Given the description of an element on the screen output the (x, y) to click on. 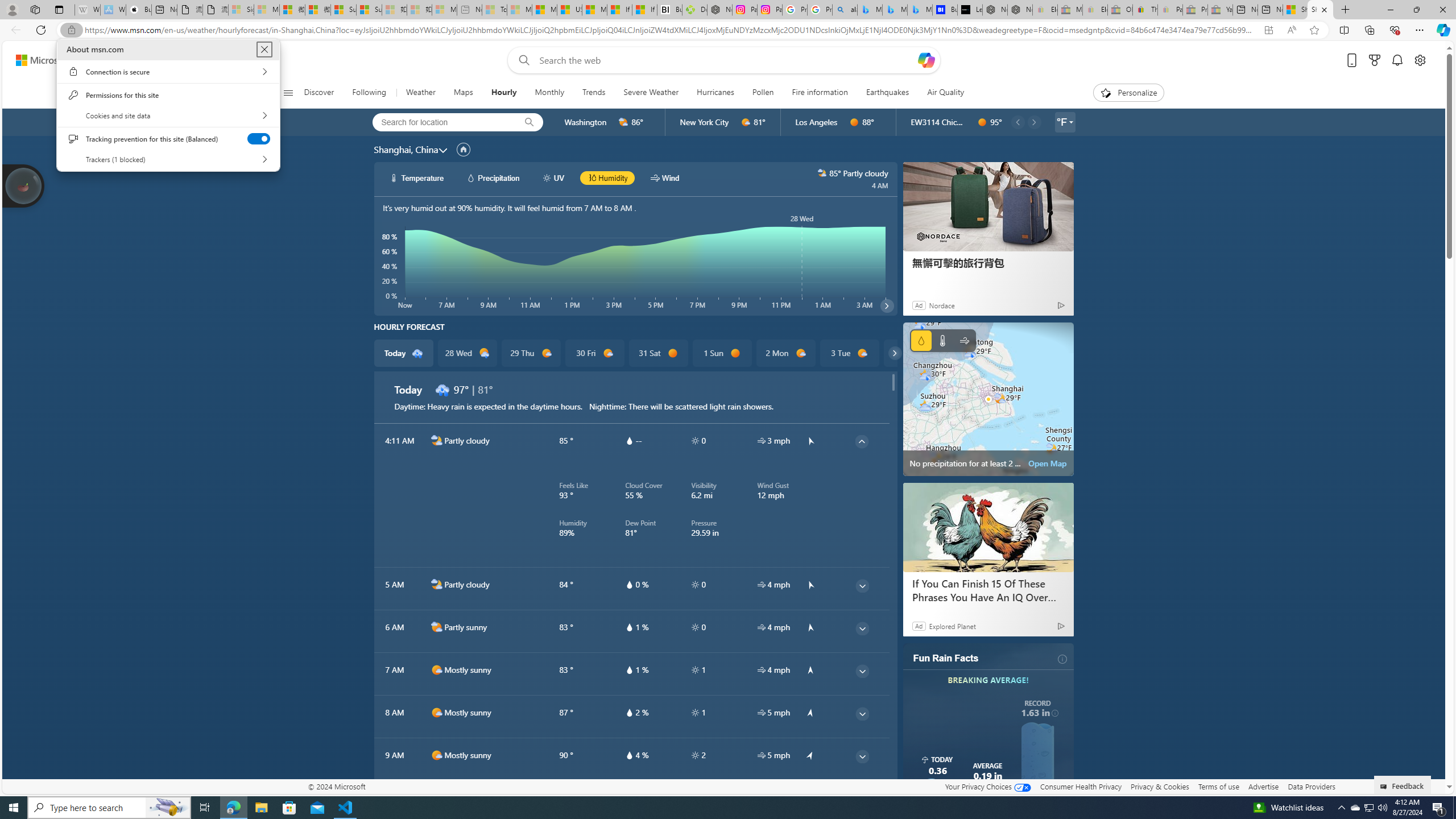
Pollen (762, 92)
hourlyTable/wind (761, 755)
Data Providers (1311, 786)
Wind (964, 340)
Pollen (762, 92)
Microsoft Edge - 1 running window (233, 807)
Data Providers (1311, 785)
Descarga Driver Updater (694, 9)
Privacy & Cookies (1160, 785)
